Given the description of an element on the screen output the (x, y) to click on. 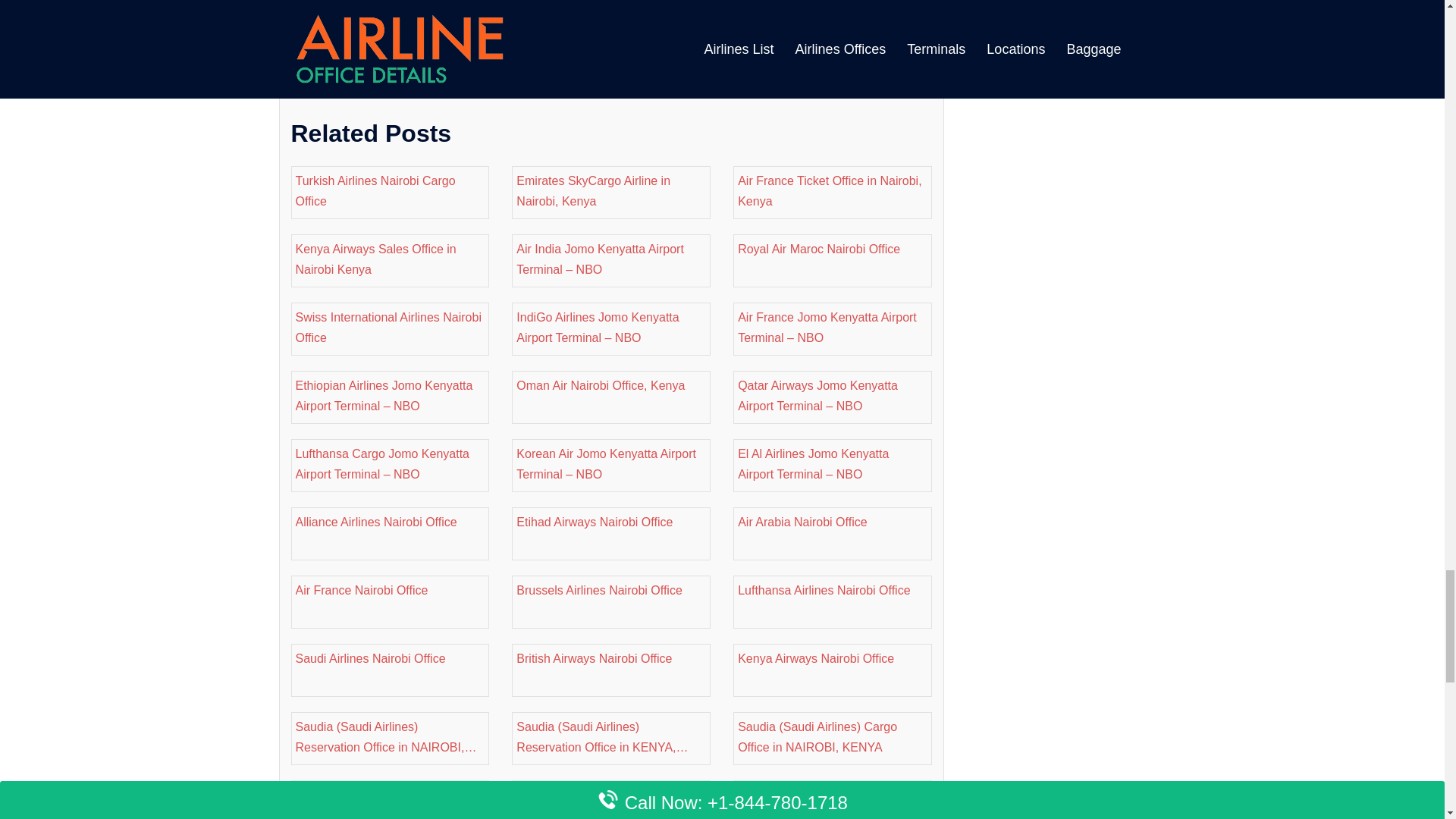
Air France Ticket Office in Nairobi, Kenya (832, 190)
Terminal (525, 76)
Emirates SkyCargo Airline in Nairobi, Kenya (611, 190)
South African Airways (437, 76)
Turkish Airlines Nairobi Cargo Office (389, 190)
Royal Air Maroc Nairobi Office (832, 249)
Oman Air Nairobi Office, Kenya (611, 385)
Kenya Airways Sales Office in Nairobi Kenya (389, 259)
Nairobi (352, 76)
Swiss International Airlines Nairobi Office (389, 327)
